Given the description of an element on the screen output the (x, y) to click on. 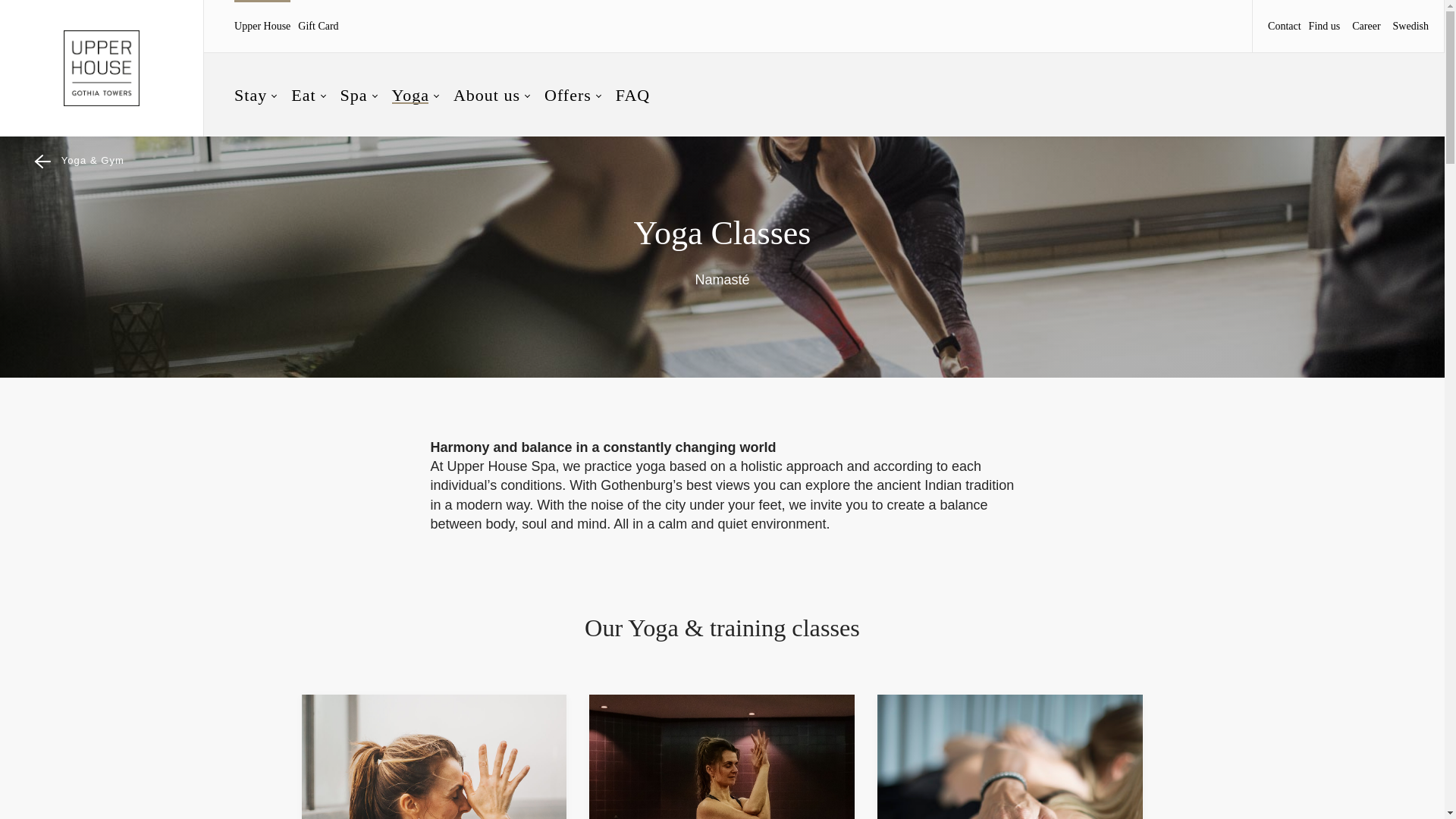
Career (1366, 26)
Contact (1284, 26)
Find us (1324, 26)
Swedish (1410, 25)
Gift Card (317, 26)
Upper House (261, 26)
